Given the description of an element on the screen output the (x, y) to click on. 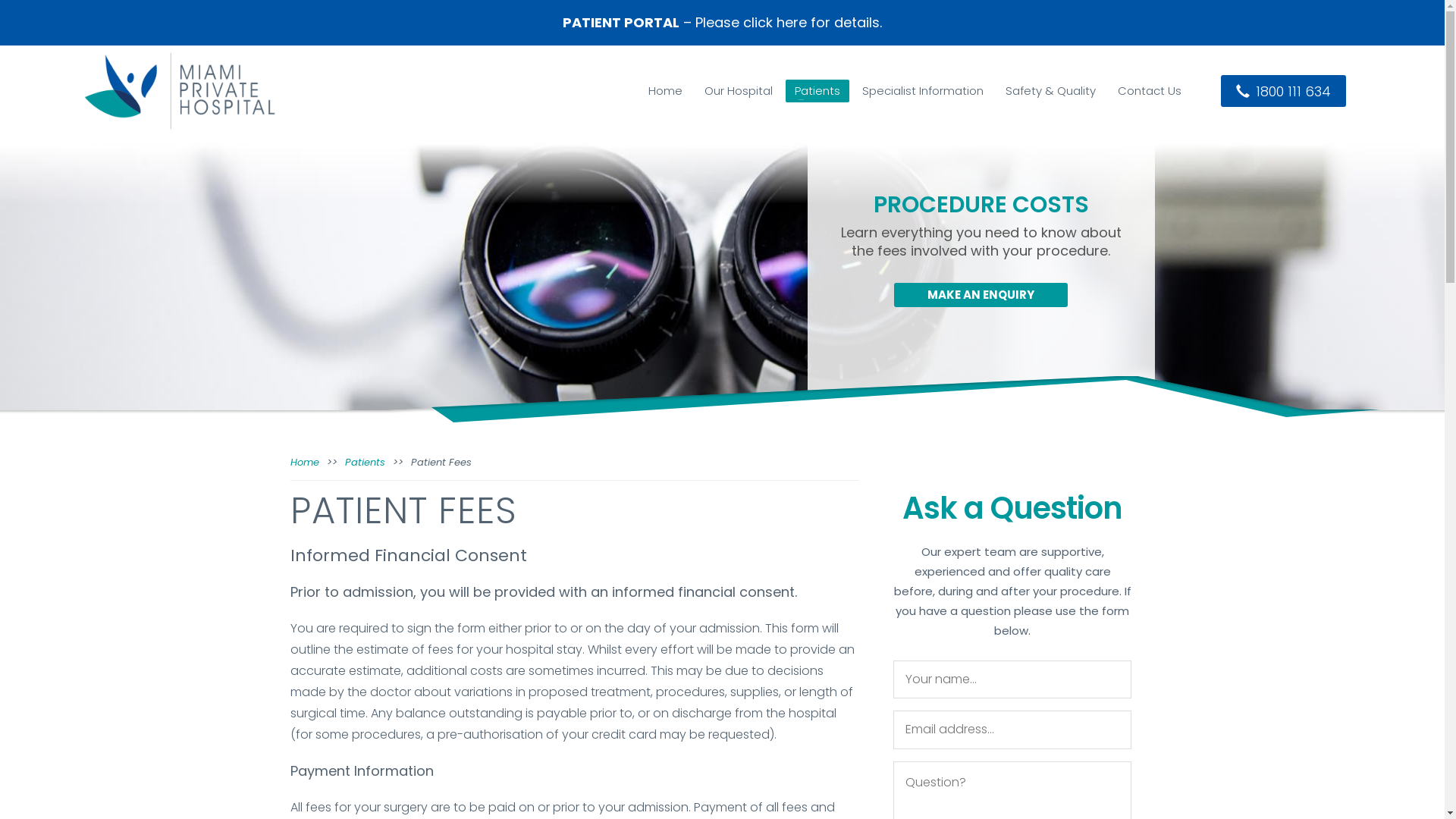
Please click here for details. Element type: text (788, 21)
Our Hospital Element type: text (738, 90)
Microsurgical Procedures Gold Coast Element type: hover (179, 90)
Patients Element type: text (817, 90)
Home Element type: text (665, 90)
Contact Us Element type: text (1149, 90)
Safety & Quality Element type: text (1050, 90)
Patients Element type: text (364, 462)
MAKE AN ENQUIRY Element type: text (980, 294)
1800 111 634 Element type: text (1283, 90)
Home Element type: text (303, 462)
Specialist Information Element type: text (922, 90)
